Given the description of an element on the screen output the (x, y) to click on. 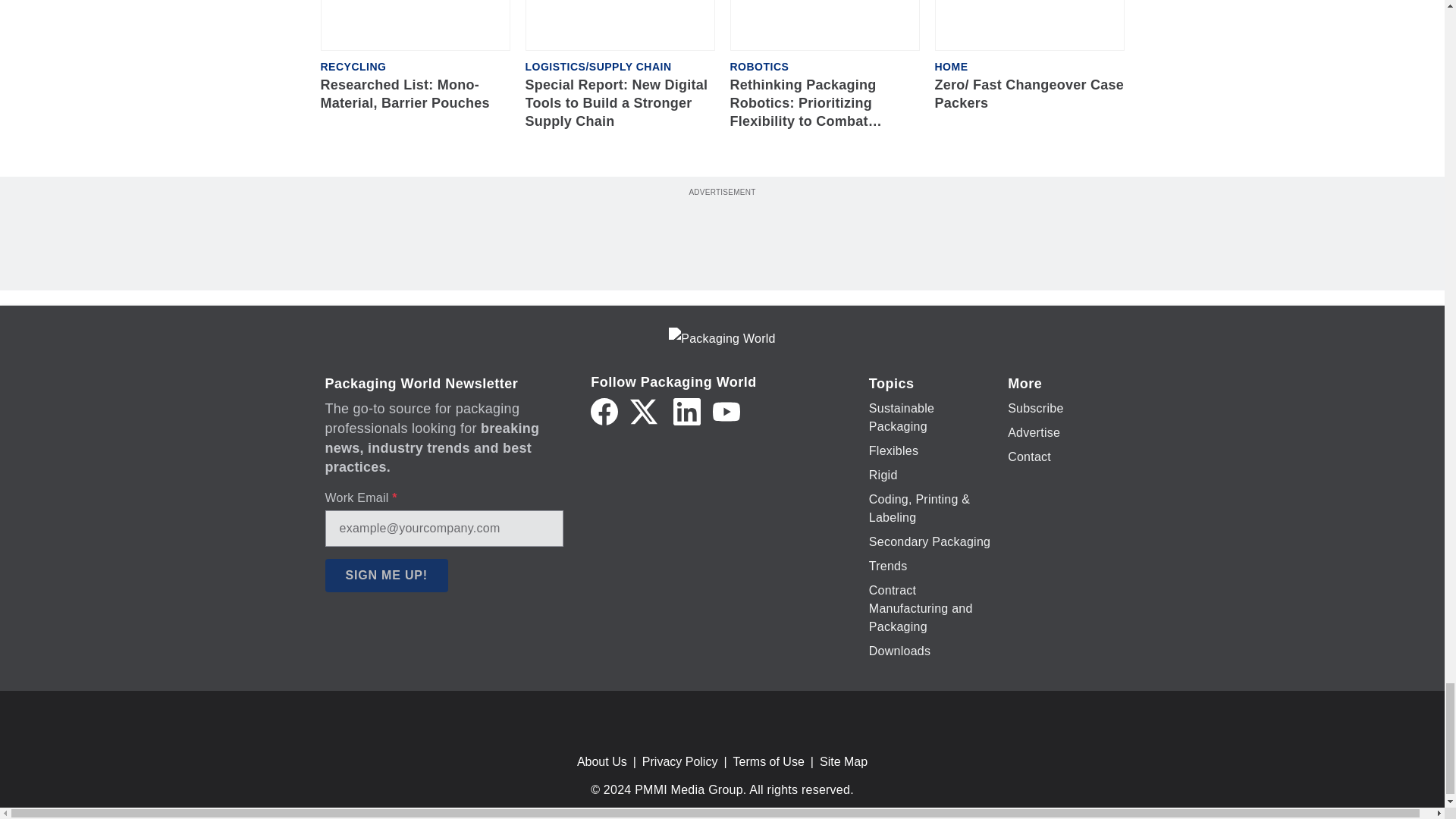
LinkedIn icon (686, 411)
Facebook icon (604, 411)
Twitter X icon (644, 411)
